Given the description of an element on the screen output the (x, y) to click on. 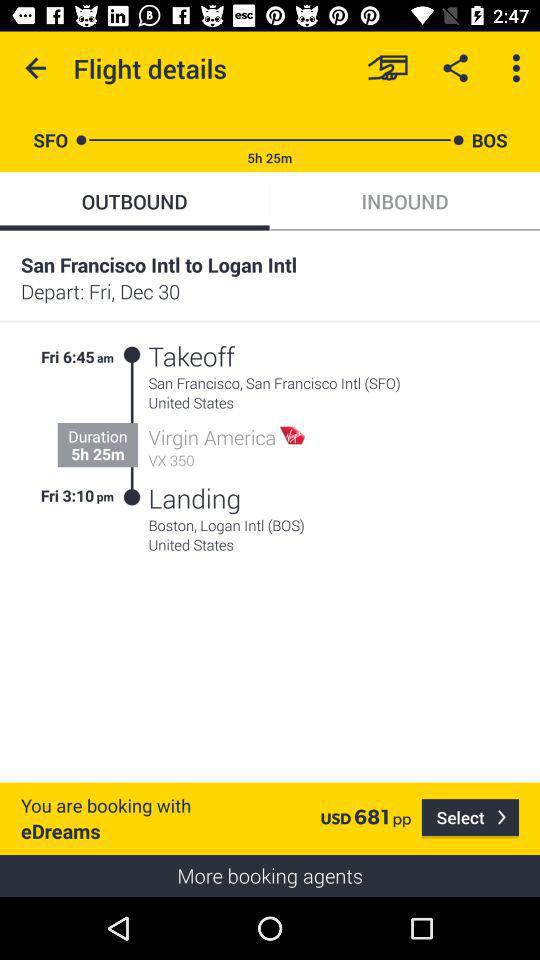
press the icon above vx 350 item (212, 437)
